Given the description of an element on the screen output the (x, y) to click on. 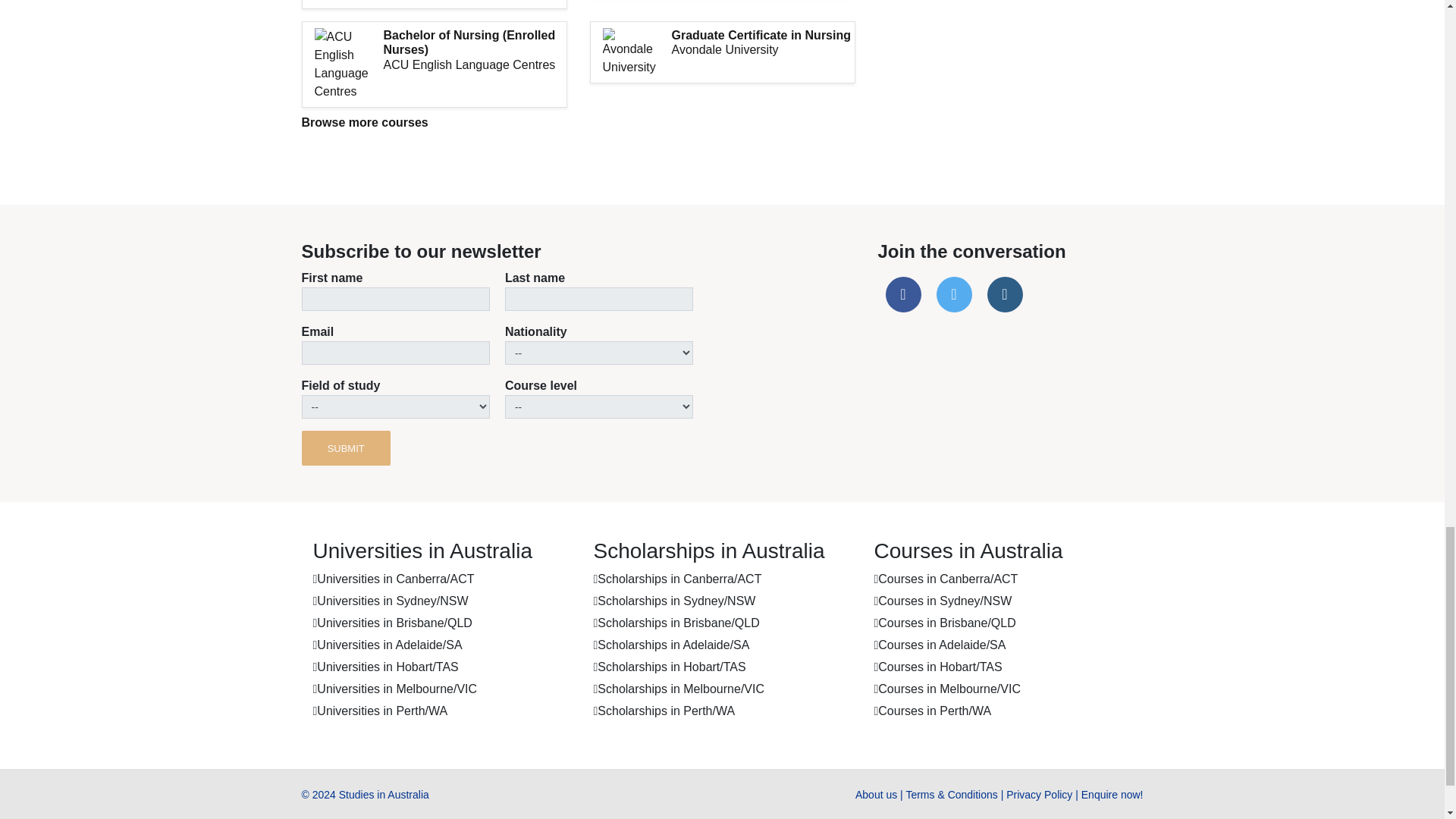
SUBMIT (345, 448)
Privacy Policy (1038, 794)
Graduate Certificate in Nursing (762, 34)
Avondale University (762, 49)
About us (876, 794)
Browse more courses (364, 122)
Enquire now! (1111, 794)
ACU English Language Centres (475, 64)
